Given the description of an element on the screen output the (x, y) to click on. 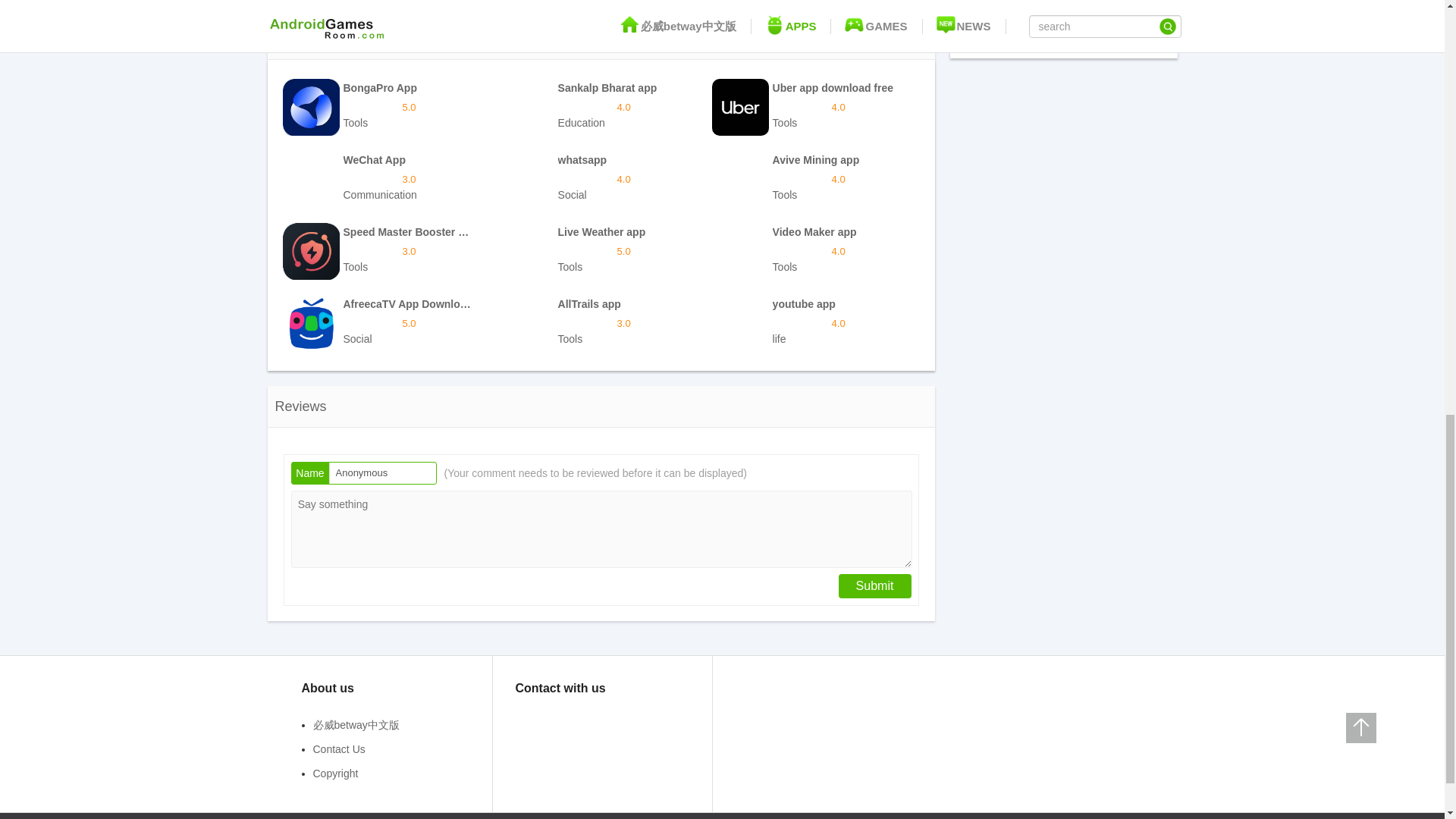
AI Mirror apk (814, 179)
Submit (1063, 19)
Contact Us (385, 251)
Anonymous (600, 179)
